Given the description of an element on the screen output the (x, y) to click on. 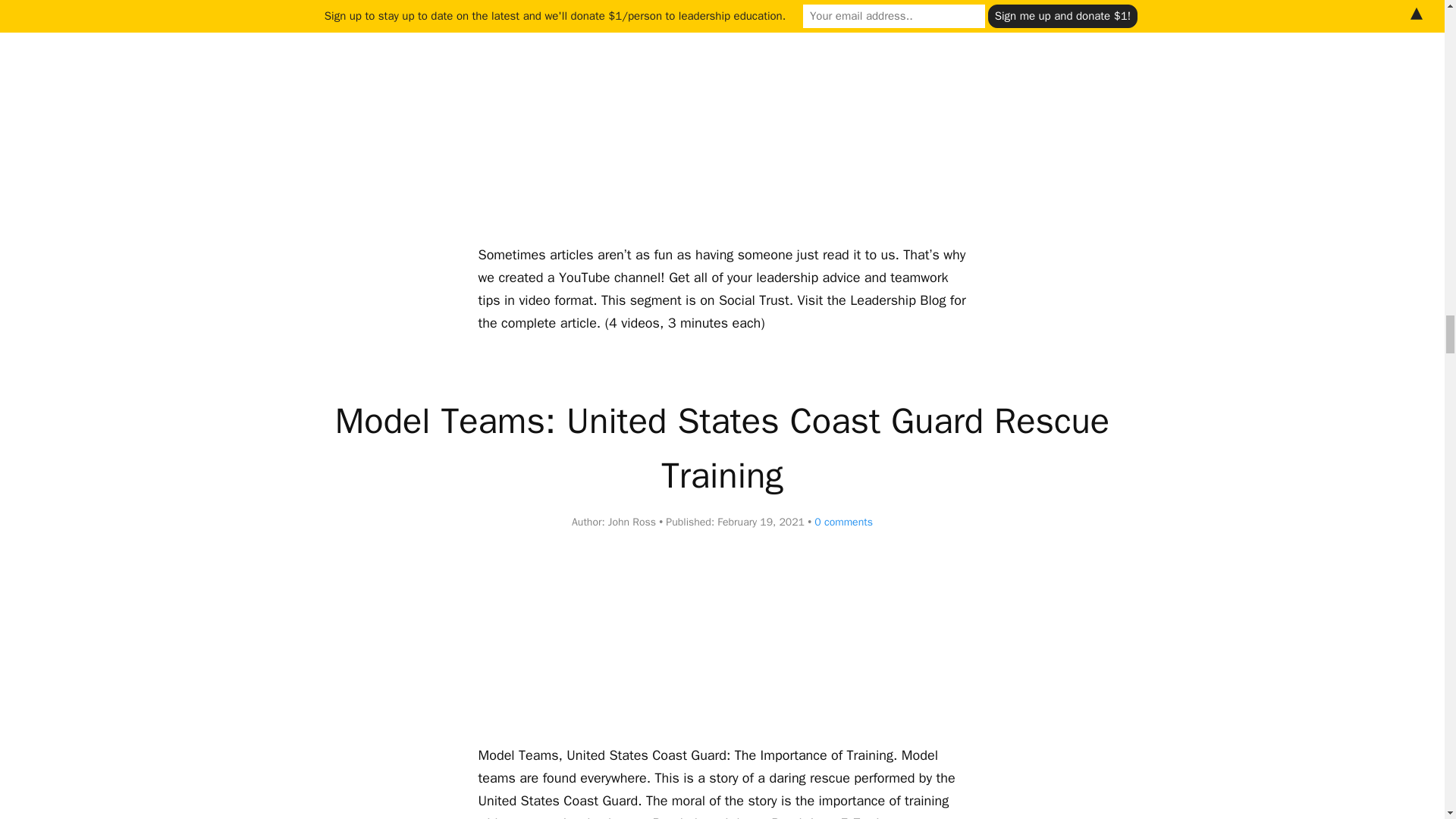
Model Teams: United States Coast Guard Rescue Training (721, 447)
2021-02-19 (761, 521)
0 comments (840, 521)
